Given the description of an element on the screen output the (x, y) to click on. 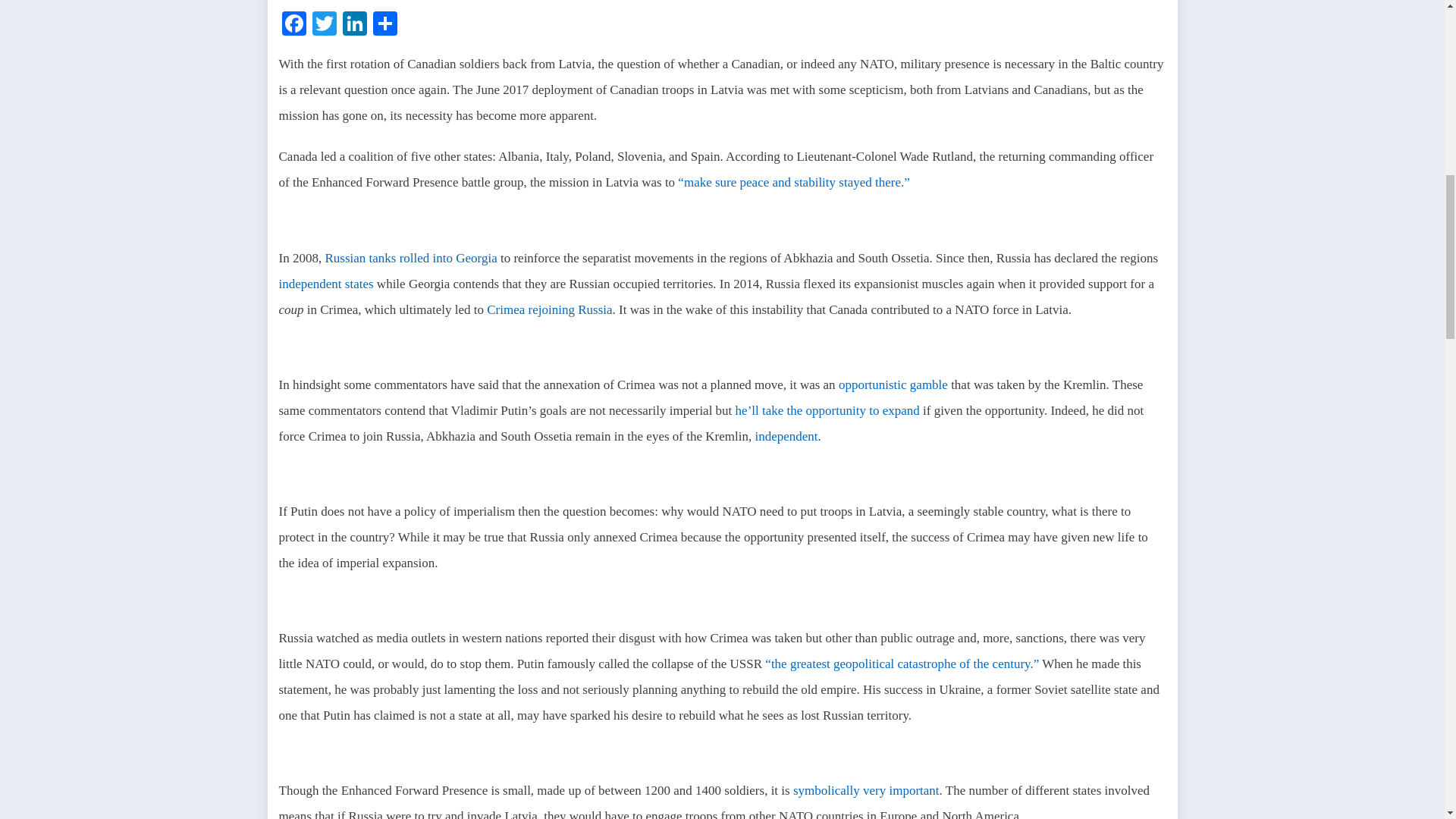
Facebook (293, 25)
Twitter (323, 25)
LinkedIn (354, 25)
